Given the description of an element on the screen output the (x, y) to click on. 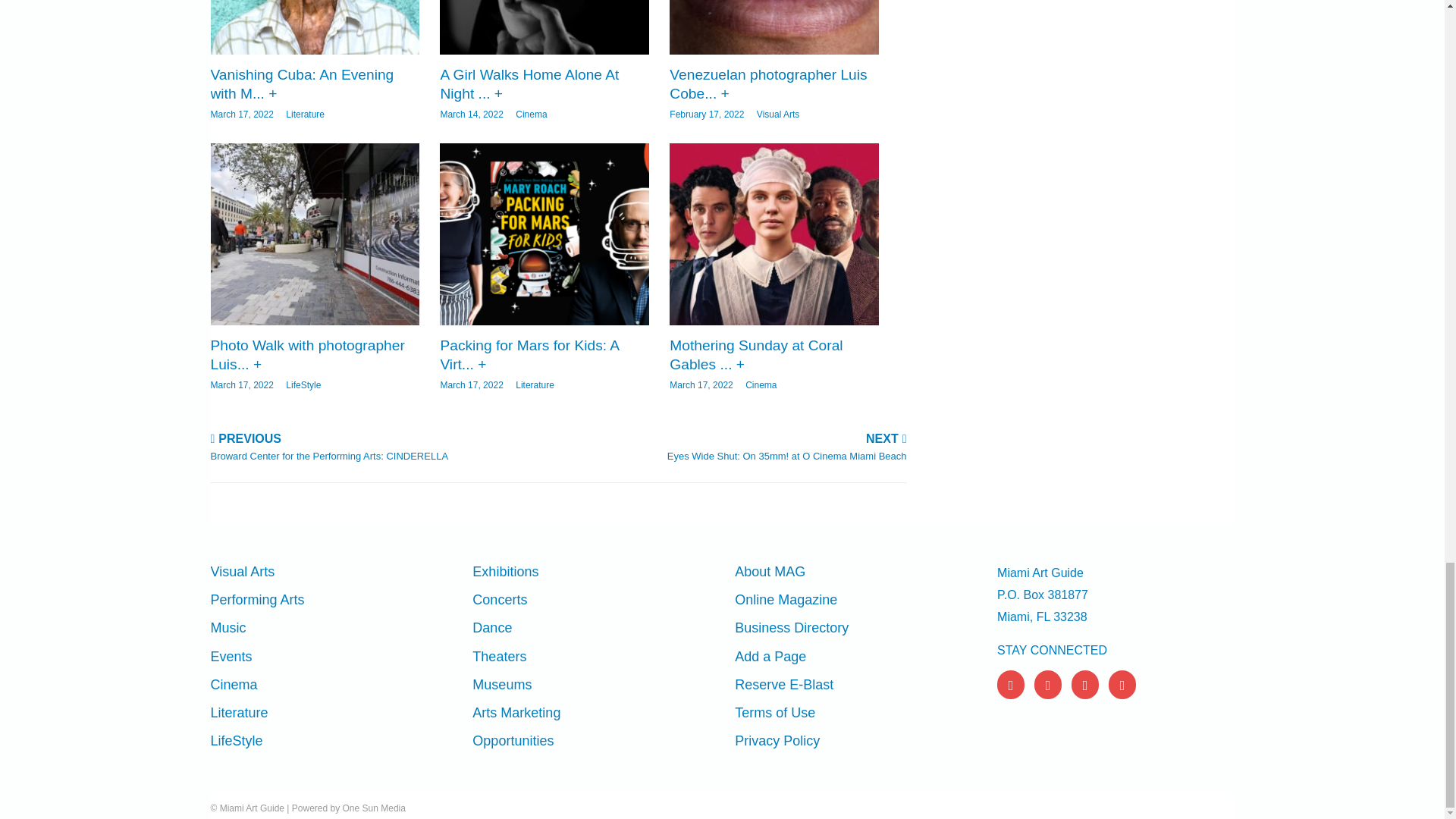
A Girl Walks Home Alone At Night at Coral Gables Art Cinema (528, 83)
A Girl Walks Home Alone At Night at Coral Gables Art Cinema (543, 27)
